Given the description of an element on the screen output the (x, y) to click on. 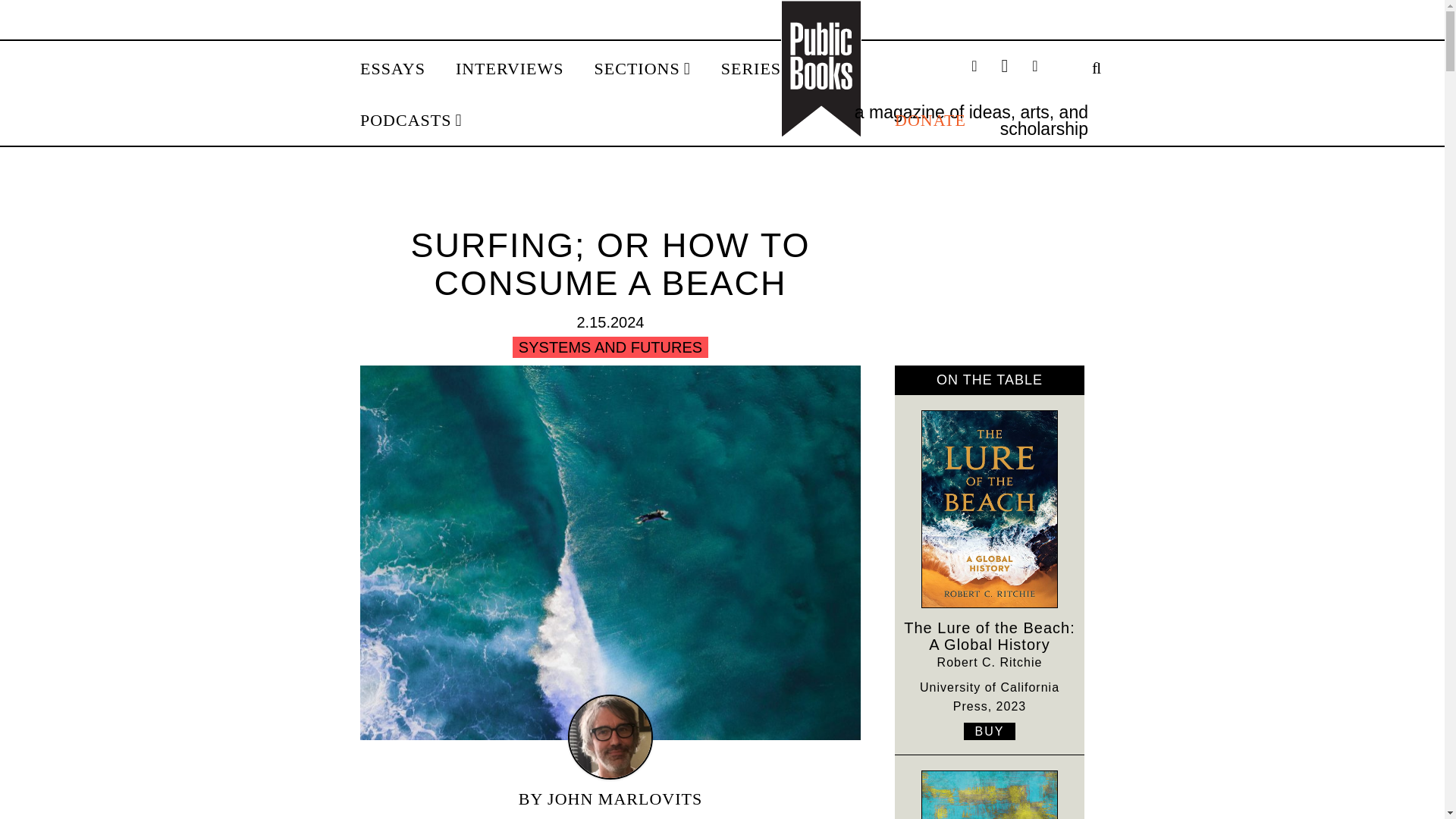
ESSAYS (392, 69)
a magazine of ideas, arts, and scholarship (970, 120)
SERIES (756, 69)
SECTIONS (642, 69)
INTERVIEWS (509, 69)
